Given the description of an element on the screen output the (x, y) to click on. 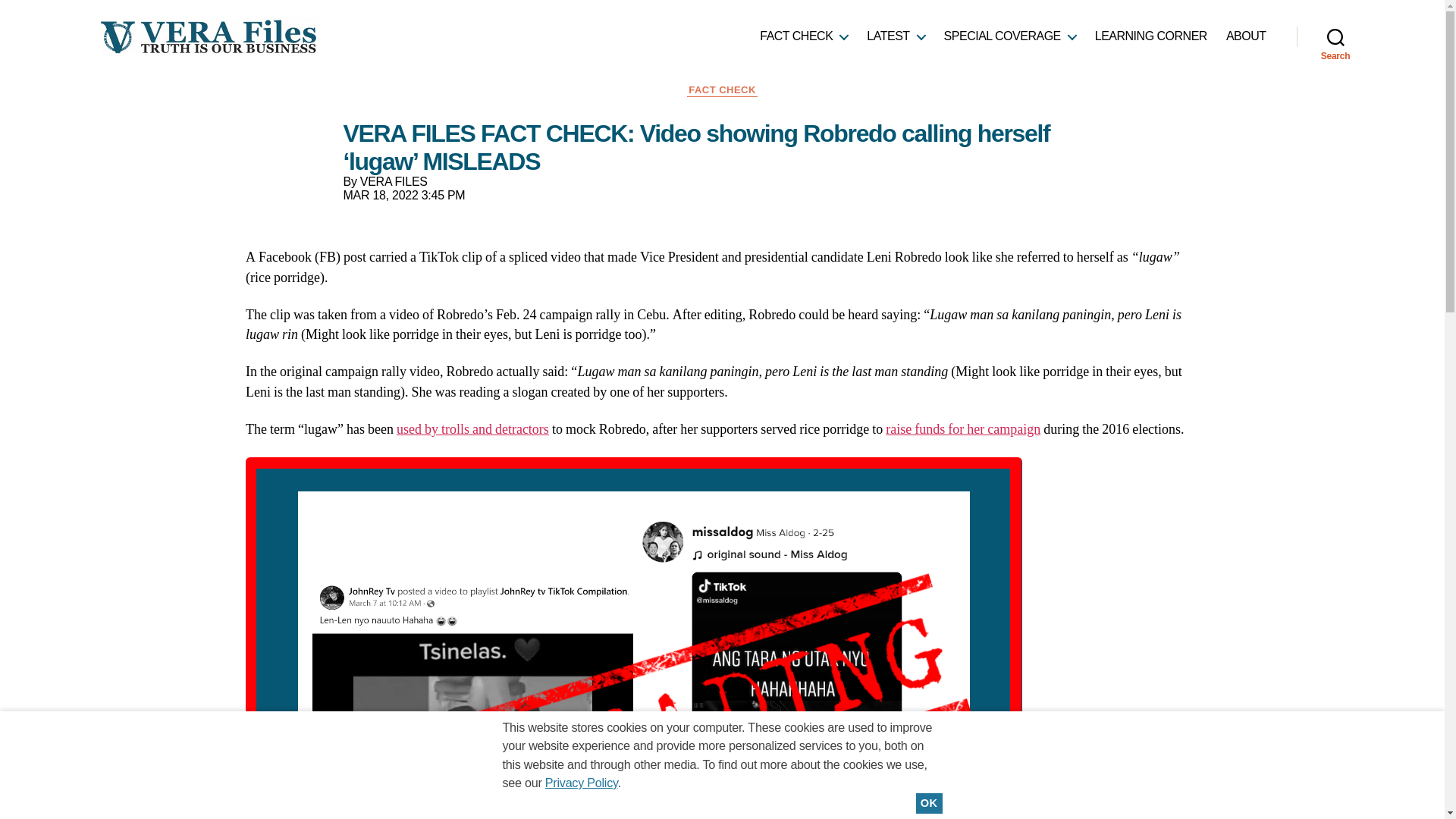
LATEST (895, 35)
Search (1335, 36)
LEARNING CORNER (1150, 35)
SPECIAL COVERAGE (1009, 35)
ABOUT (1245, 35)
FACT CHECK (803, 35)
